Given the description of an element on the screen output the (x, y) to click on. 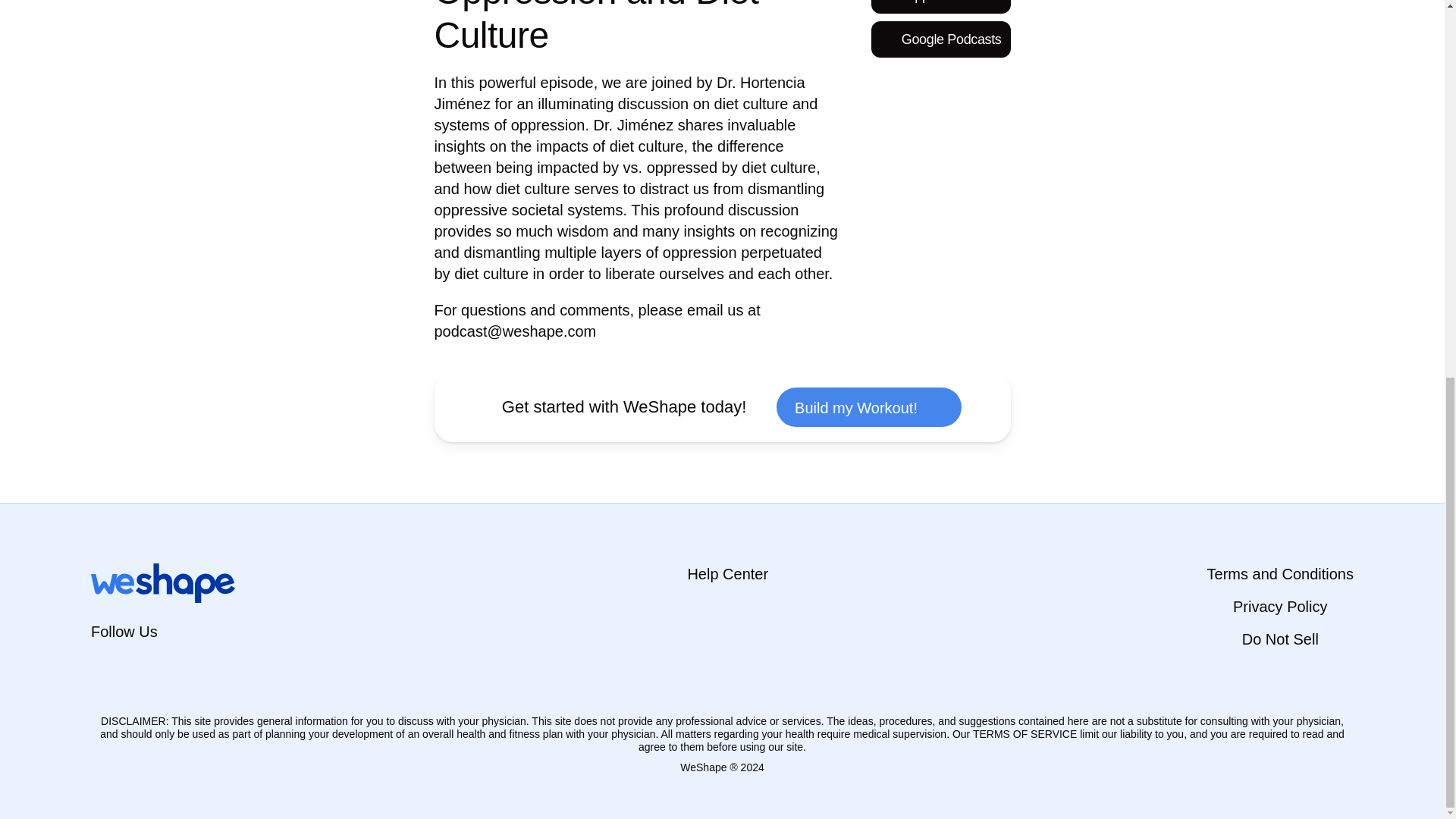
Privacy Policy (1279, 606)
Do Not Sell (1280, 638)
Google Podcasts (940, 39)
Help Center (727, 573)
Terms and Conditions (1280, 573)
TERMS OF SERVICE (1024, 734)
Apple Podcasts (940, 6)
